Given the description of an element on the screen output the (x, y) to click on. 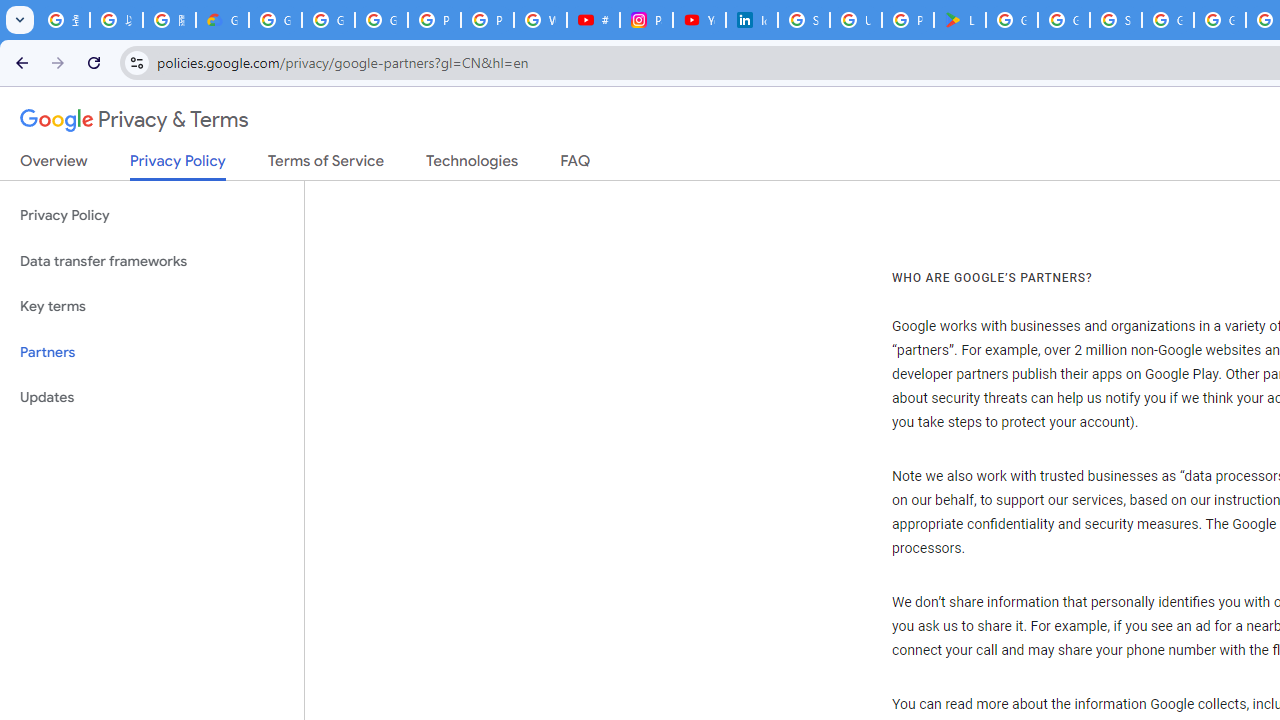
Google Workspace - Specific Terms (1064, 20)
Privacy Help Center - Policies Help (434, 20)
#nbabasketballhighlights - YouTube (593, 20)
Sign in - Google Accounts (1115, 20)
Key terms (152, 306)
